Given the description of an element on the screen output the (x, y) to click on. 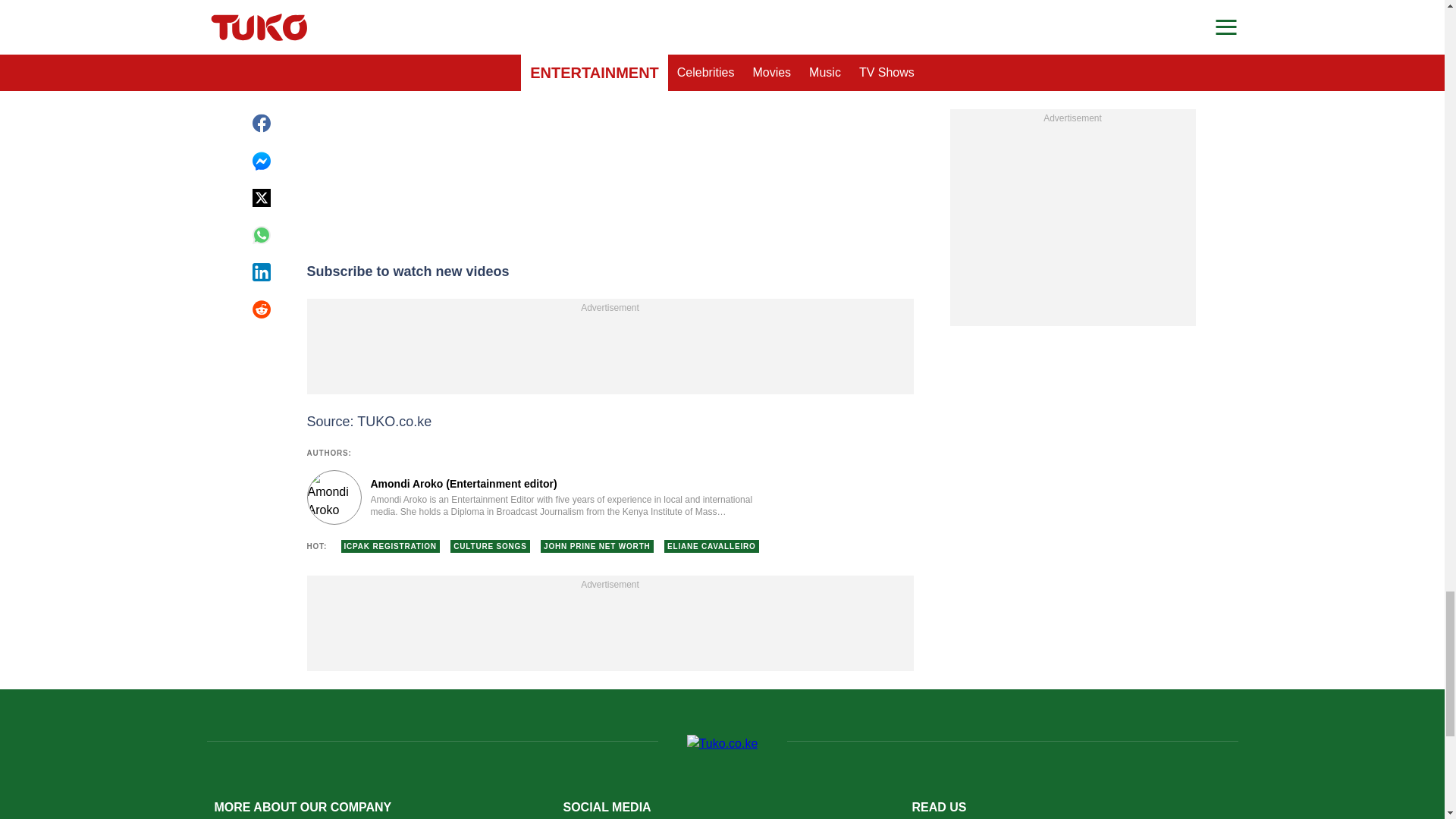
Author page (533, 497)
